Given the description of an element on the screen output the (x, y) to click on. 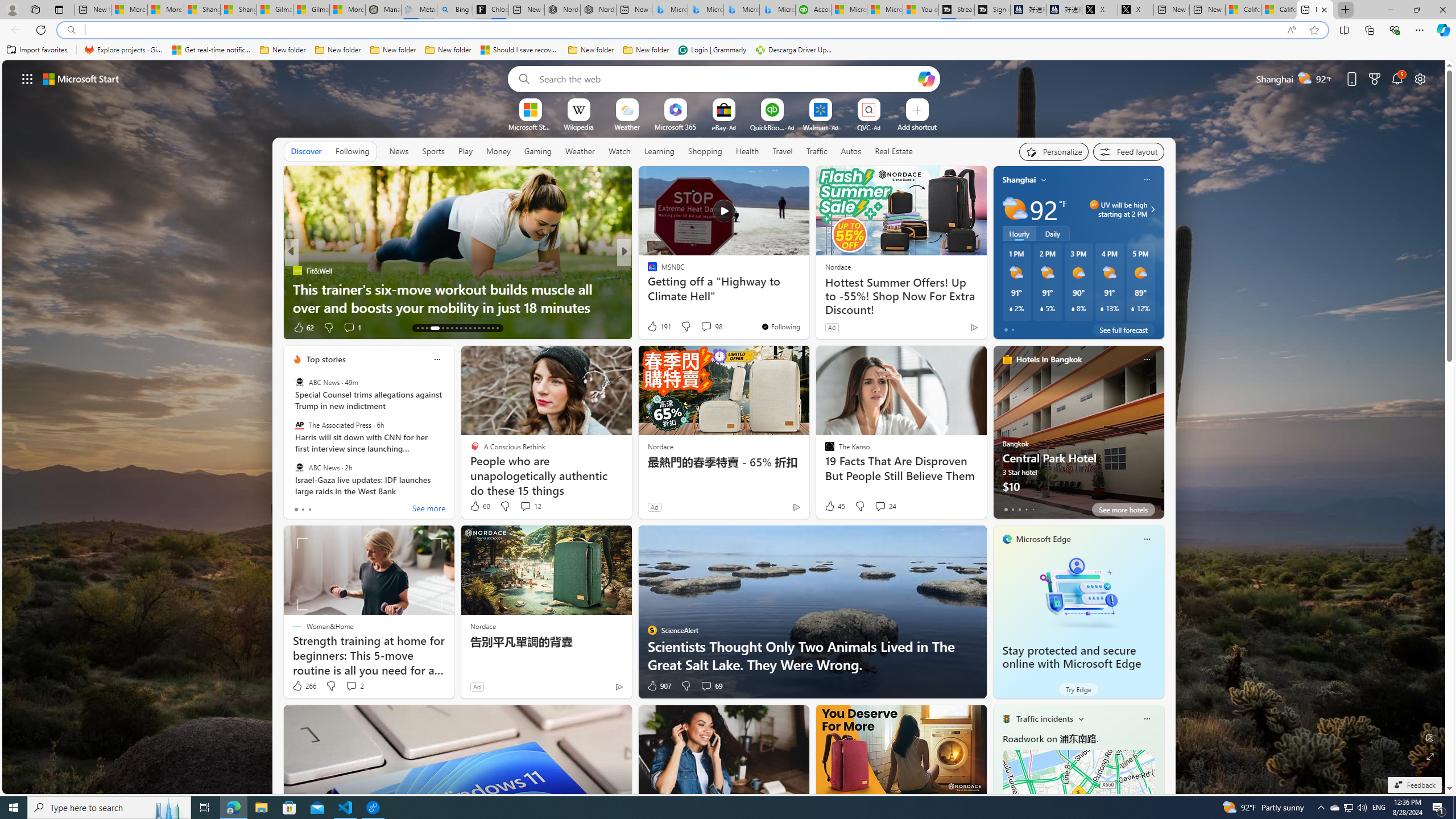
View comments 2 Comment (354, 685)
29 Like (652, 327)
Inc. (647, 270)
AutomationID: tab-18 (446, 328)
FamilyProof (647, 270)
The Associated Press (299, 424)
191 Like (658, 326)
